Given the description of an element on the screen output the (x, y) to click on. 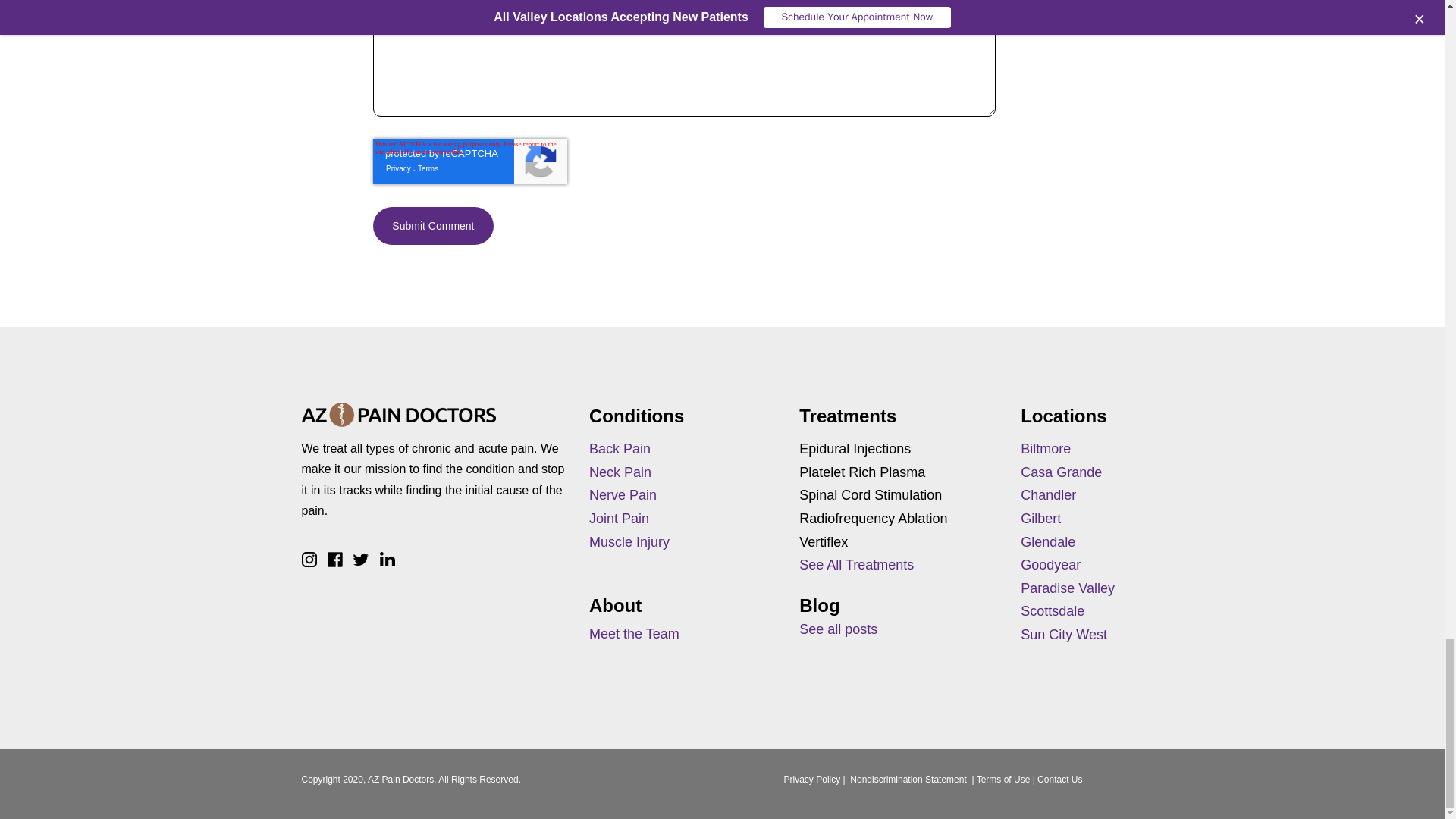
Submit Comment (432, 225)
az-pain-doctors-dark (398, 414)
Submit Comment (432, 225)
reCAPTCHA (469, 161)
